Given the description of an element on the screen output the (x, y) to click on. 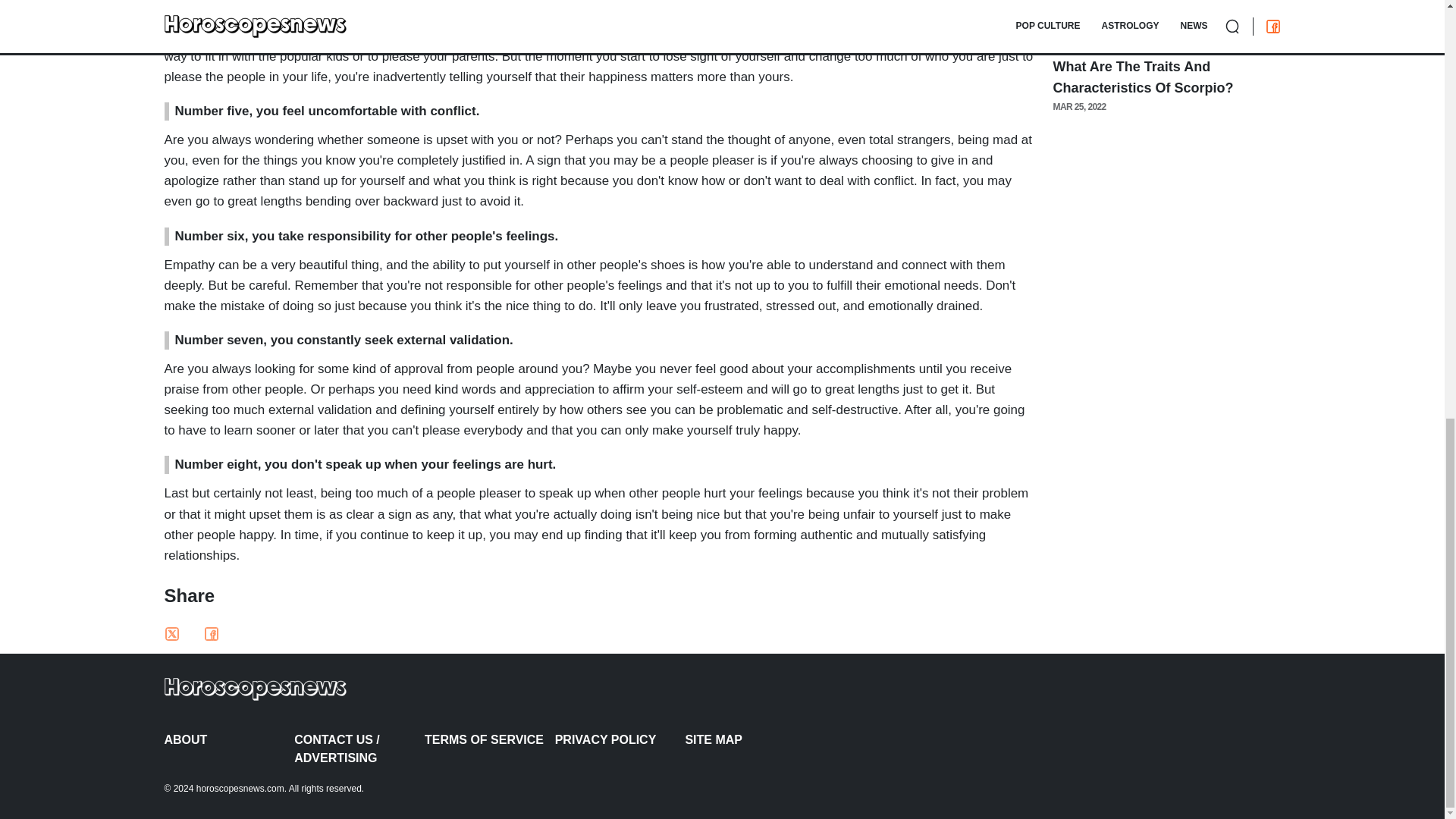
SITE MAP (749, 740)
TERMS OF SERVICE (489, 740)
Terms of Service (489, 740)
About (228, 740)
ABOUT (228, 740)
What Are The Traits And Characteristics Of Scorpio? (1142, 76)
Site Map (749, 740)
PRIVACY POLICY (619, 740)
Privacy Policy (619, 740)
